Given the description of an element on the screen output the (x, y) to click on. 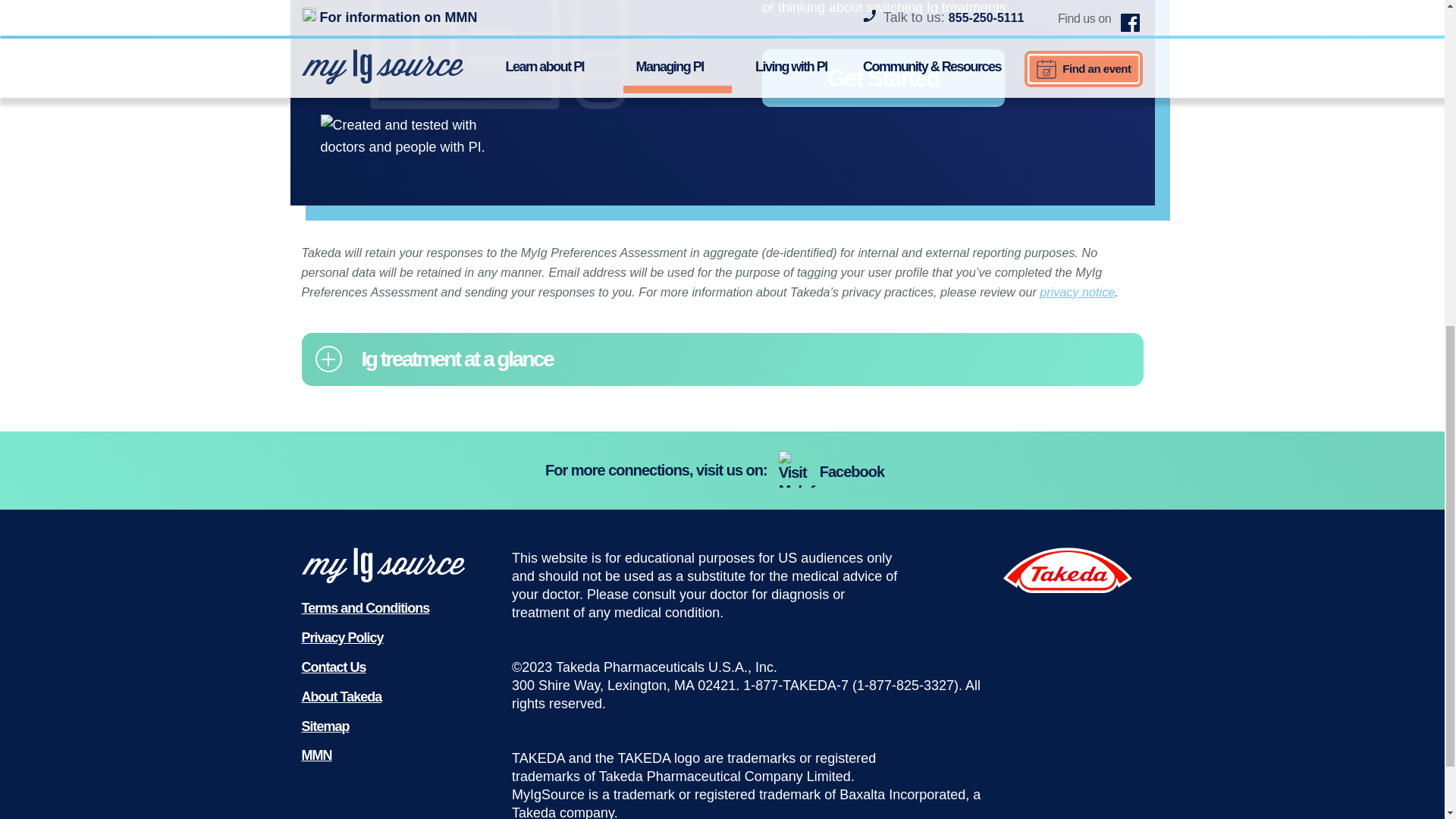
About Takeda (341, 696)
Terms and Conditions (365, 607)
privacy notice (1077, 291)
Contact Us (333, 667)
Sitemap (325, 726)
Get Started (882, 78)
Facebook (833, 471)
MMN (316, 754)
Privacy Policy (342, 637)
